Given the description of an element on the screen output the (x, y) to click on. 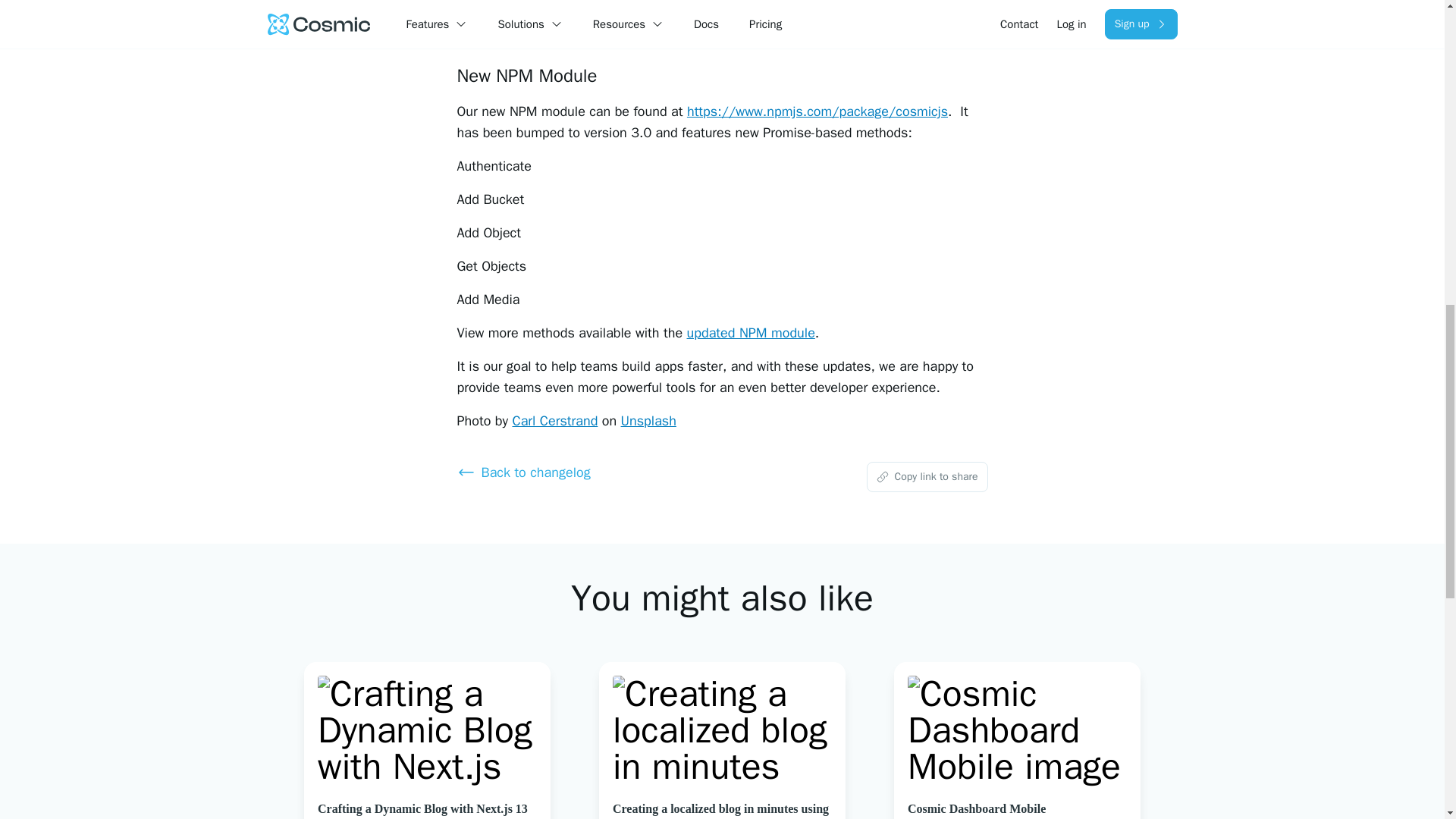
Unsplash (649, 420)
updated NPM module (751, 332)
Copy link to share (927, 476)
Carl Cerstrand (554, 420)
Back to changelog (589, 472)
